Given the description of an element on the screen output the (x, y) to click on. 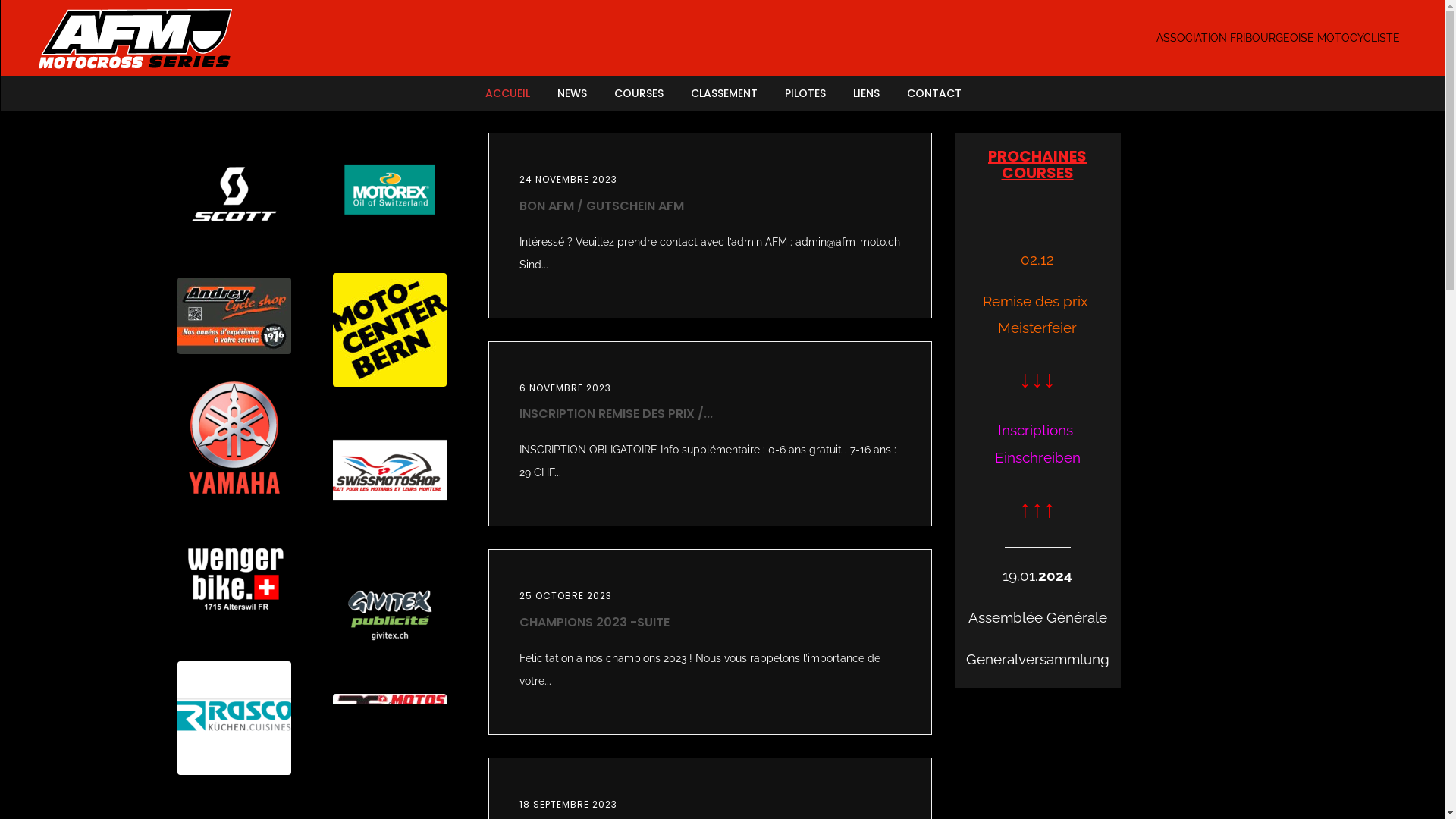
6givitex Element type: hover (388, 610)
Fichier 187@1.5x Element type: hover (388, 189)
Yamaha-Logo Element type: hover (234, 437)
CONTACT Element type: text (927, 92)
CLASSEMENT Element type: text (723, 92)
swiss_moto_shop Element type: hover (388, 470)
Inscriptions  Einschreiben Element type: text (1037, 442)
COURSES Element type: text (638, 92)
INSCRIPTION REMISE DES PRIX /... Element type: text (615, 413)
LIENS Element type: text (865, 92)
PILOTES Element type: text (804, 92)
BON AFM / GUTSCHEIN AFM Element type: text (600, 205)
NEWS Element type: text (570, 92)
Remise des prix  Meisterfeier Element type: text (1037, 316)
ACCUEIL Element type: text (514, 92)
andrey_CM_panneau 21 Element type: hover (234, 315)
Logo_MCB Element type: hover (388, 329)
Logo_PSMotos-Cycles_coul Element type: hover (388, 705)
9scott Element type: hover (234, 194)
wenger_biker Element type: hover (234, 577)
Rasco Element type: hover (234, 718)
CHAMPIONS 2023 -SUITE Element type: text (593, 621)
